Given the description of an element on the screen output the (x, y) to click on. 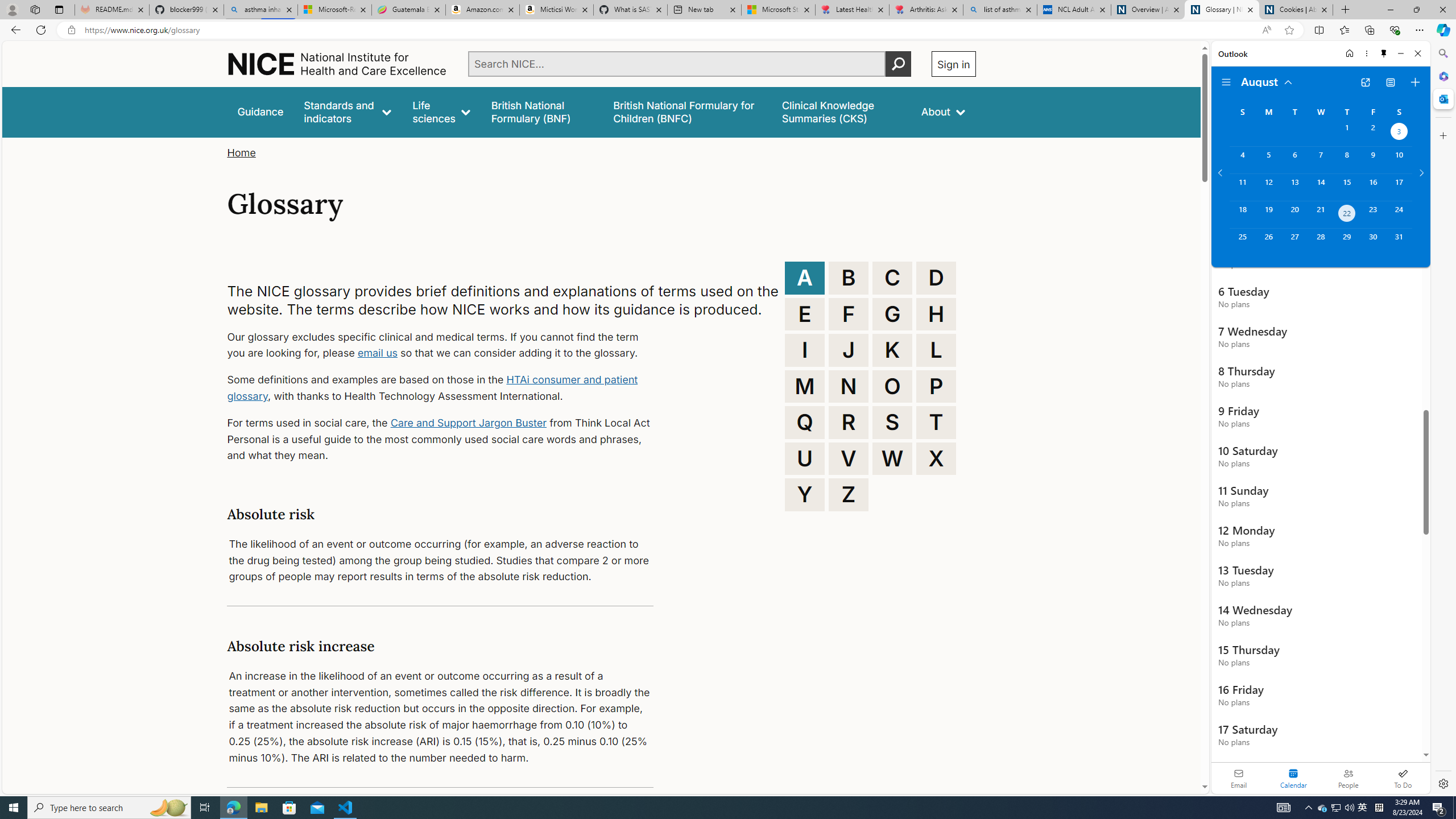
Folder navigation (1225, 82)
Q (804, 422)
To Do (1402, 777)
Z (848, 494)
Monday, August 5, 2024.  (1268, 159)
Thursday, August 1, 2024.  (1346, 132)
Care and Support Jargon Buster (468, 422)
Sunday, August 25, 2024.  (1242, 241)
